Given the description of an element on the screen output the (x, y) to click on. 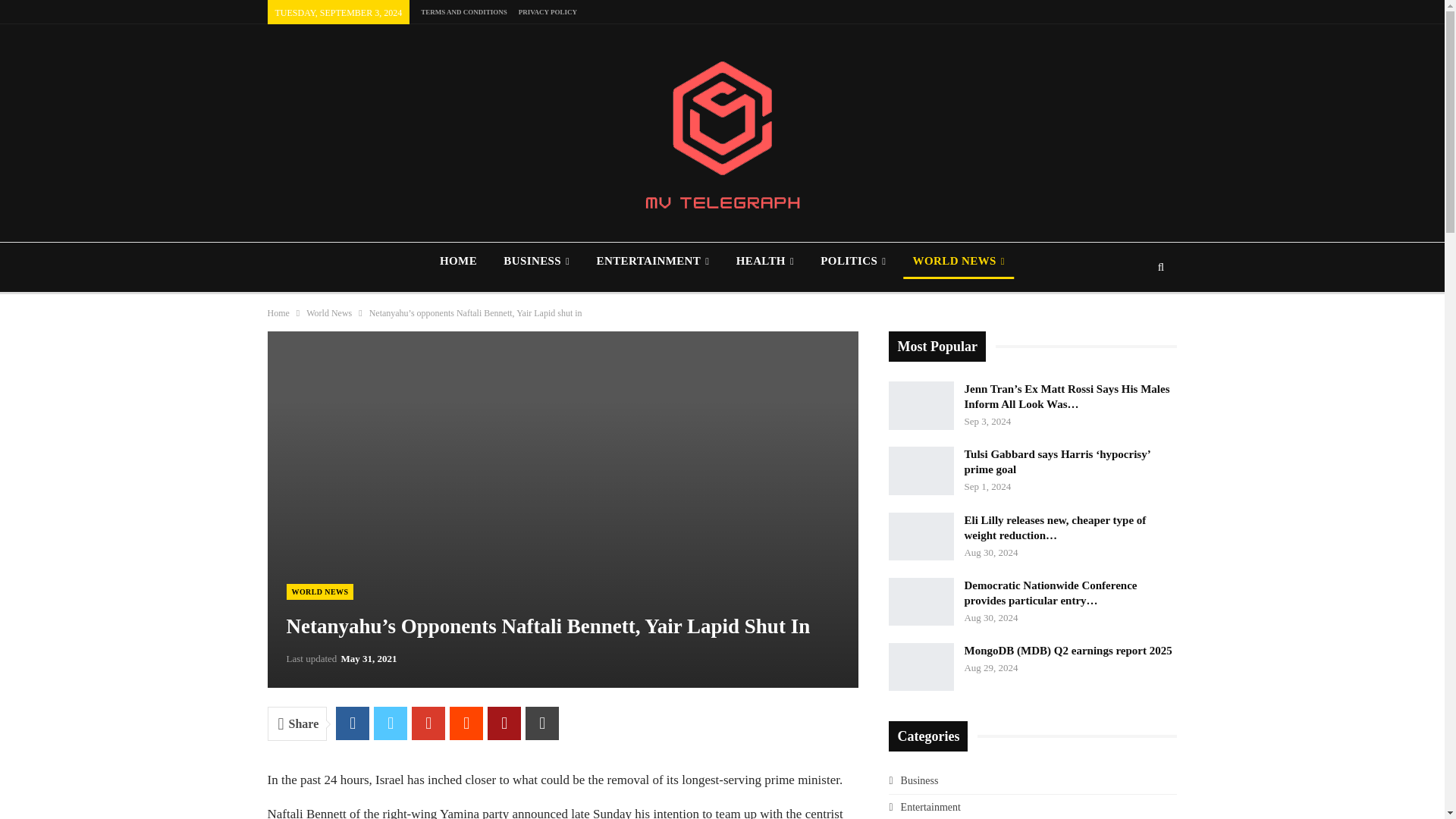
HOME (458, 260)
ENTERTAINMENT (651, 260)
TERMS AND CONDITIONS (463, 11)
HEALTH (764, 260)
BUSINESS (536, 260)
PRIVACY POLICY (547, 11)
